Given the description of an element on the screen output the (x, y) to click on. 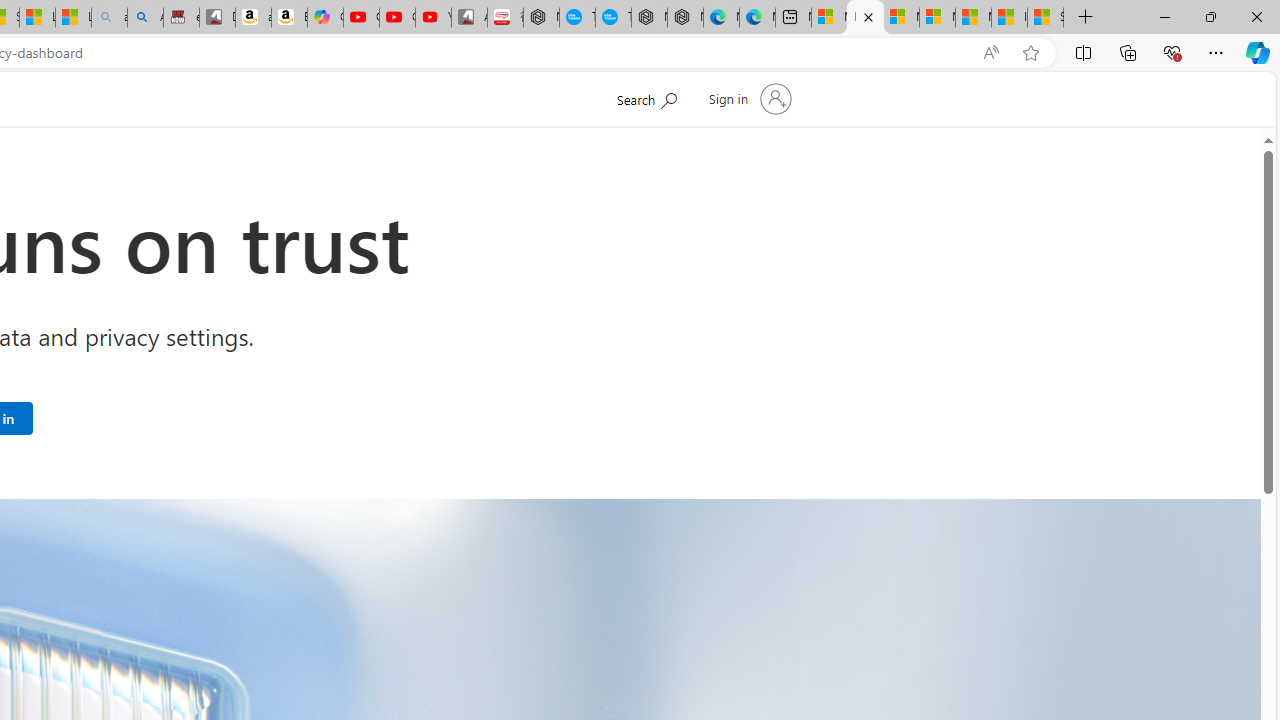
The most popular Google 'how to' searches (613, 17)
Nordace - My Account (541, 17)
amazon.in/dp/B0CX59H5W7/?tag=gsmcom05-21 (253, 17)
Copilot (325, 17)
Search Microsoft.com (646, 97)
Gloom - YouTube (397, 17)
